Given the description of an element on the screen output the (x, y) to click on. 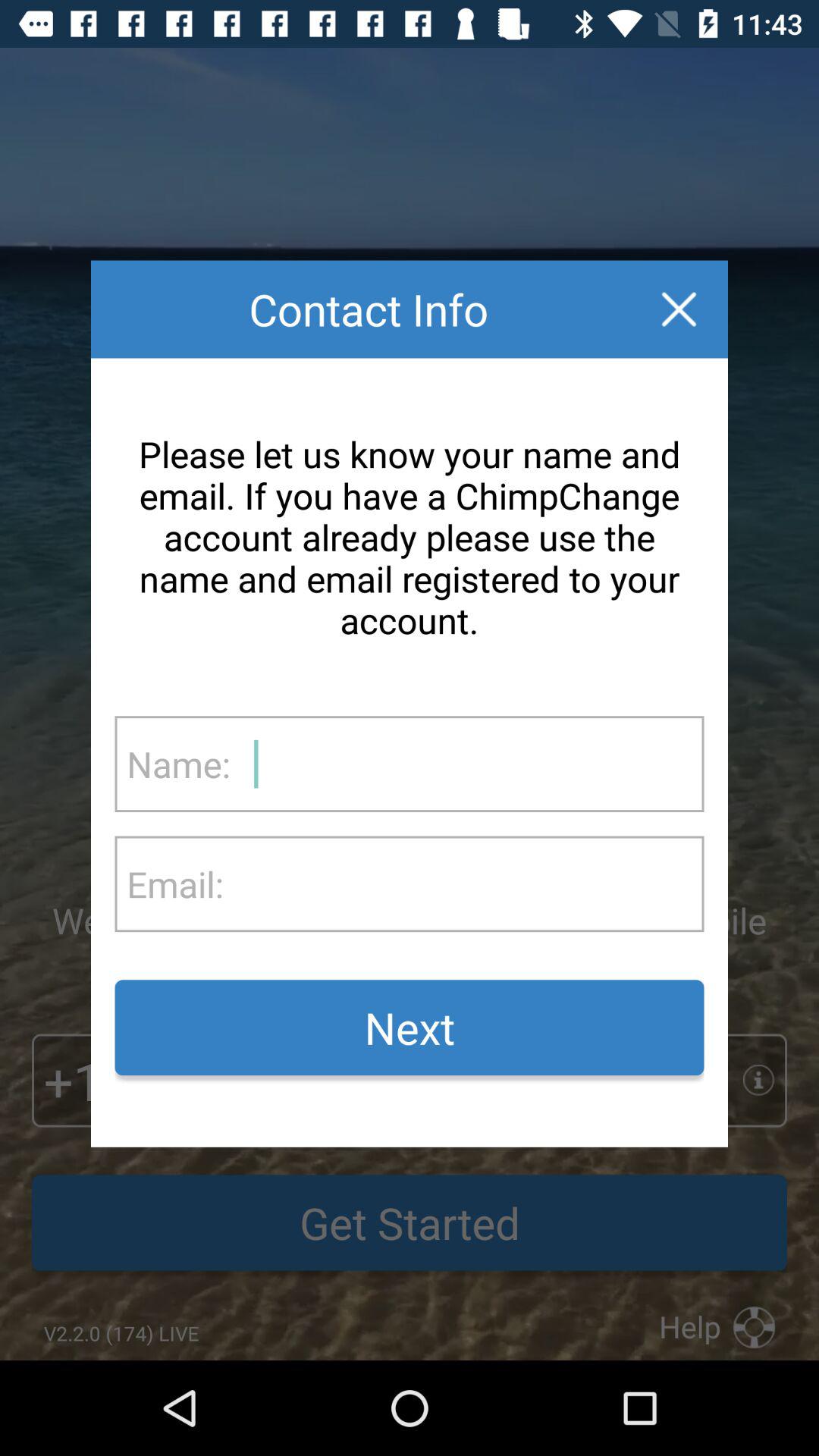
enter your email address (463, 884)
